Given the description of an element on the screen output the (x, y) to click on. 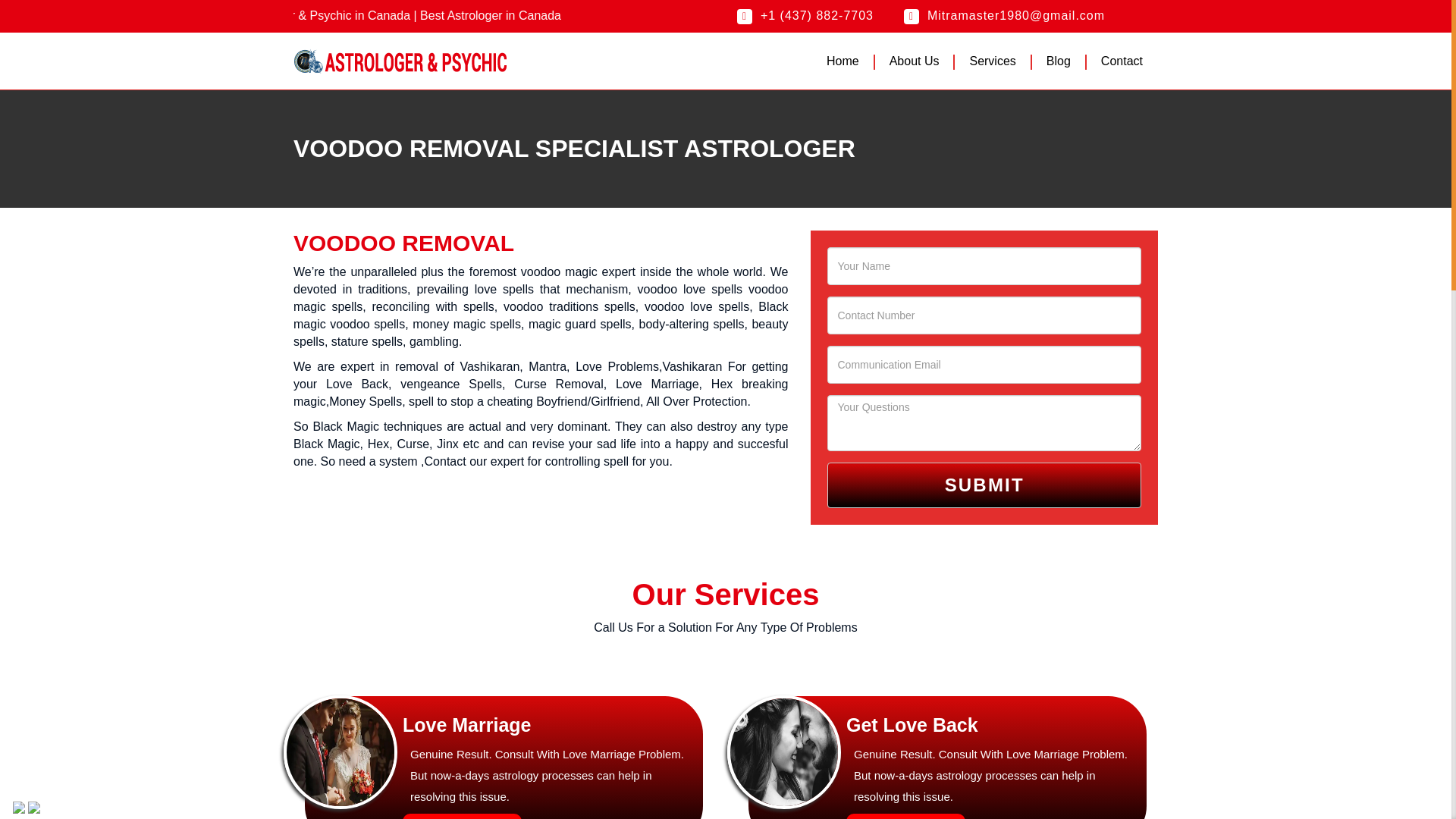
Blog (1058, 60)
Services (991, 60)
Home (842, 60)
Love back (784, 751)
About Us (915, 60)
Love Marriage (340, 751)
Contact (1121, 60)
